Given the description of an element on the screen output the (x, y) to click on. 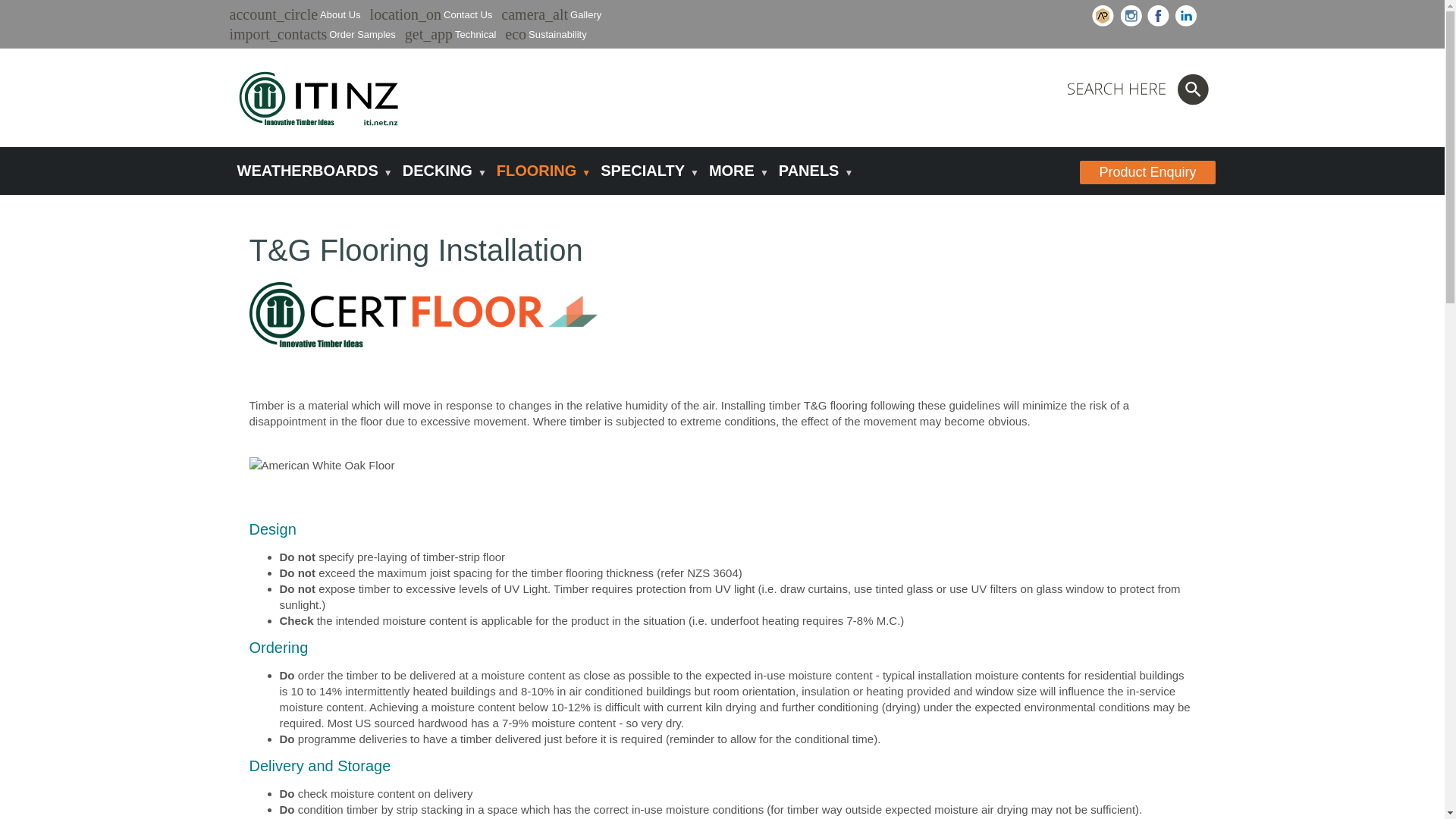
DECKING (441, 170)
Gallery (585, 14)
Sustainability (557, 34)
WEATHERBOARDS (311, 170)
Contact Us (468, 14)
About Us (339, 14)
Technical (475, 34)
Order Samples (361, 34)
